Given the description of an element on the screen output the (x, y) to click on. 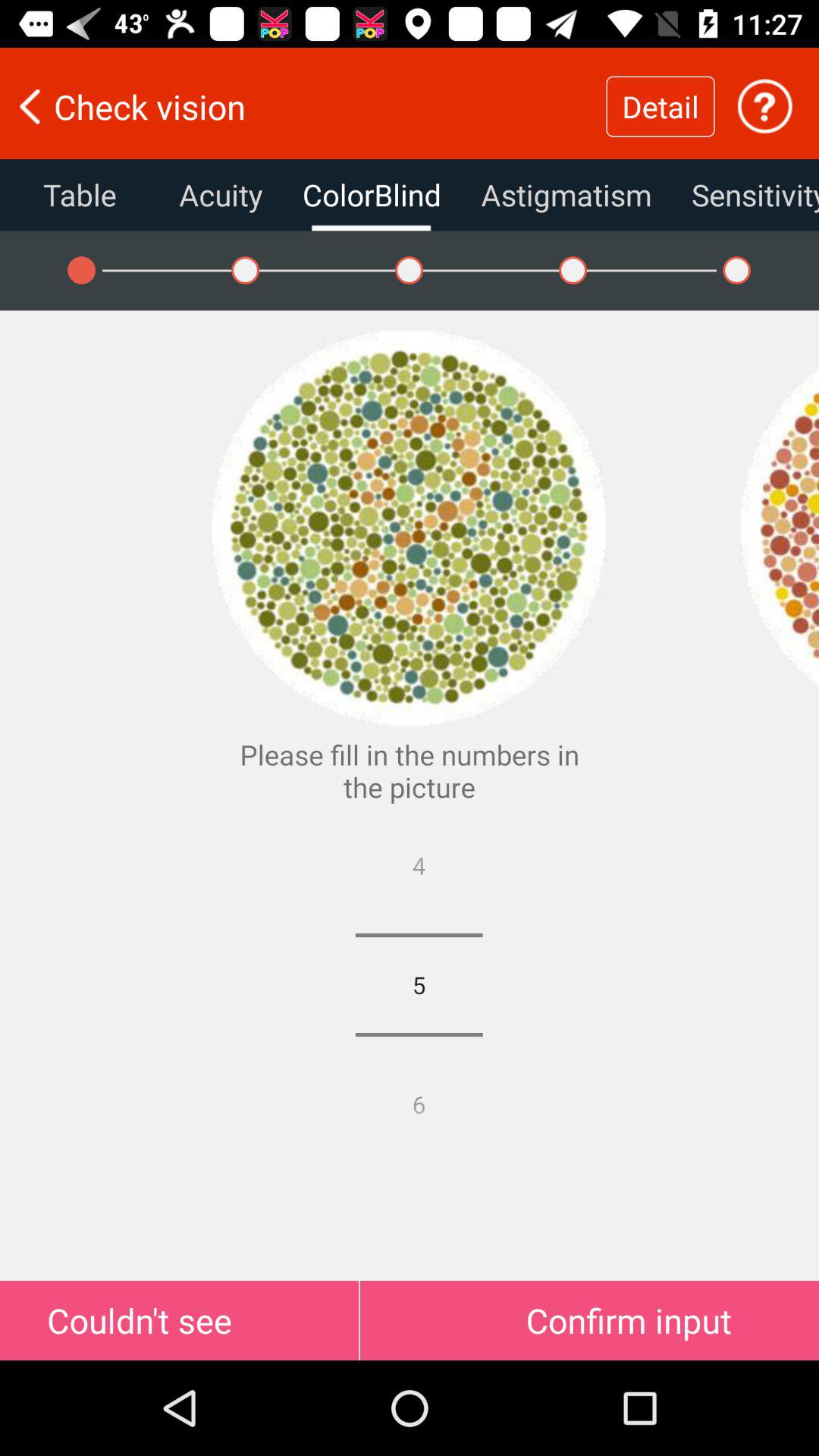
help button (764, 106)
